Given the description of an element on the screen output the (x, y) to click on. 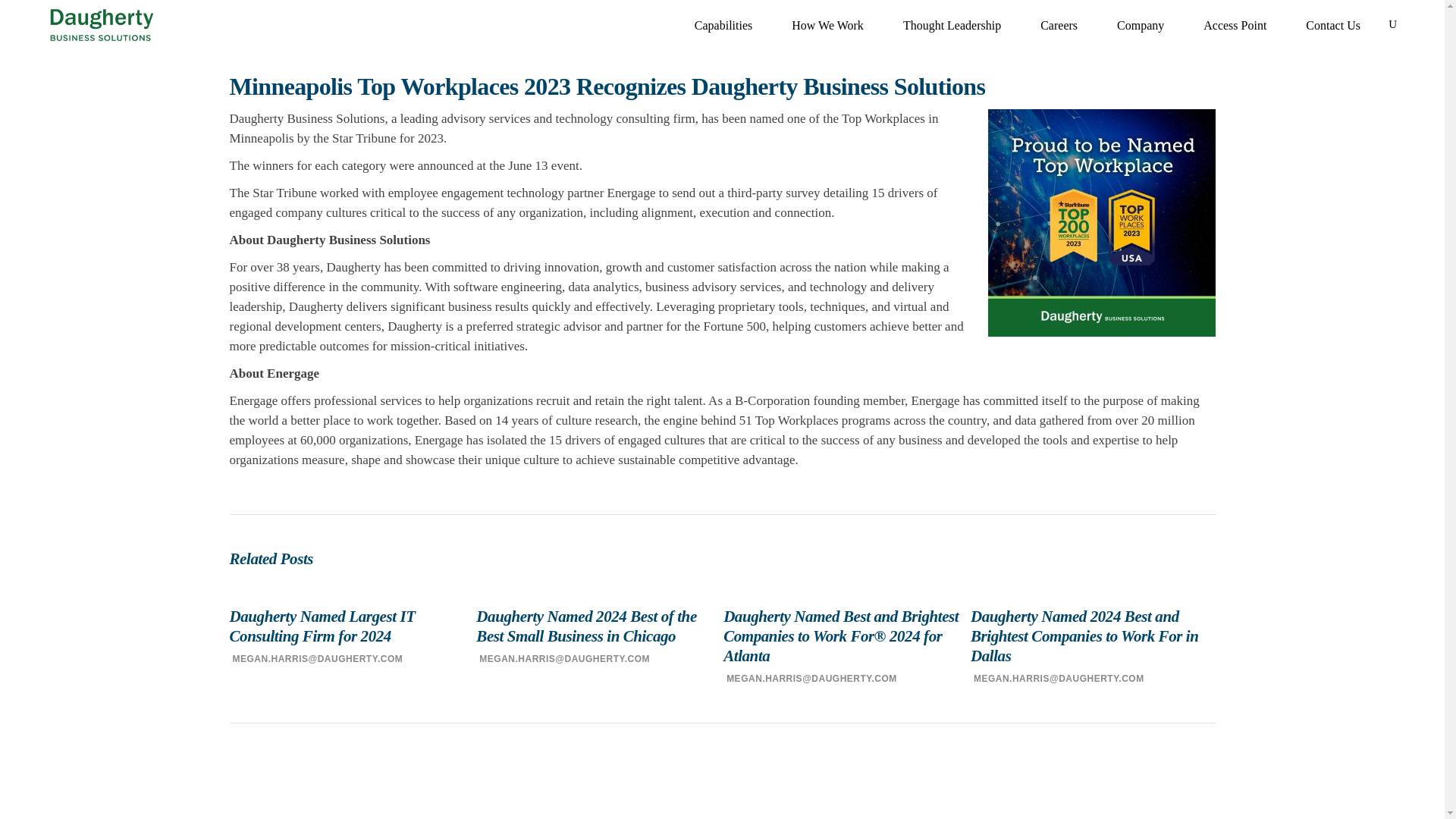
Contact Us (1332, 24)
Capabilities (723, 24)
How We Work (827, 24)
Company (1140, 24)
Daugherty Named Largest IT Consulting Firm for 2024 (351, 626)
Thought Leadership (951, 24)
Access Point (1234, 24)
Careers (1058, 24)
